Given the description of an element on the screen output the (x, y) to click on. 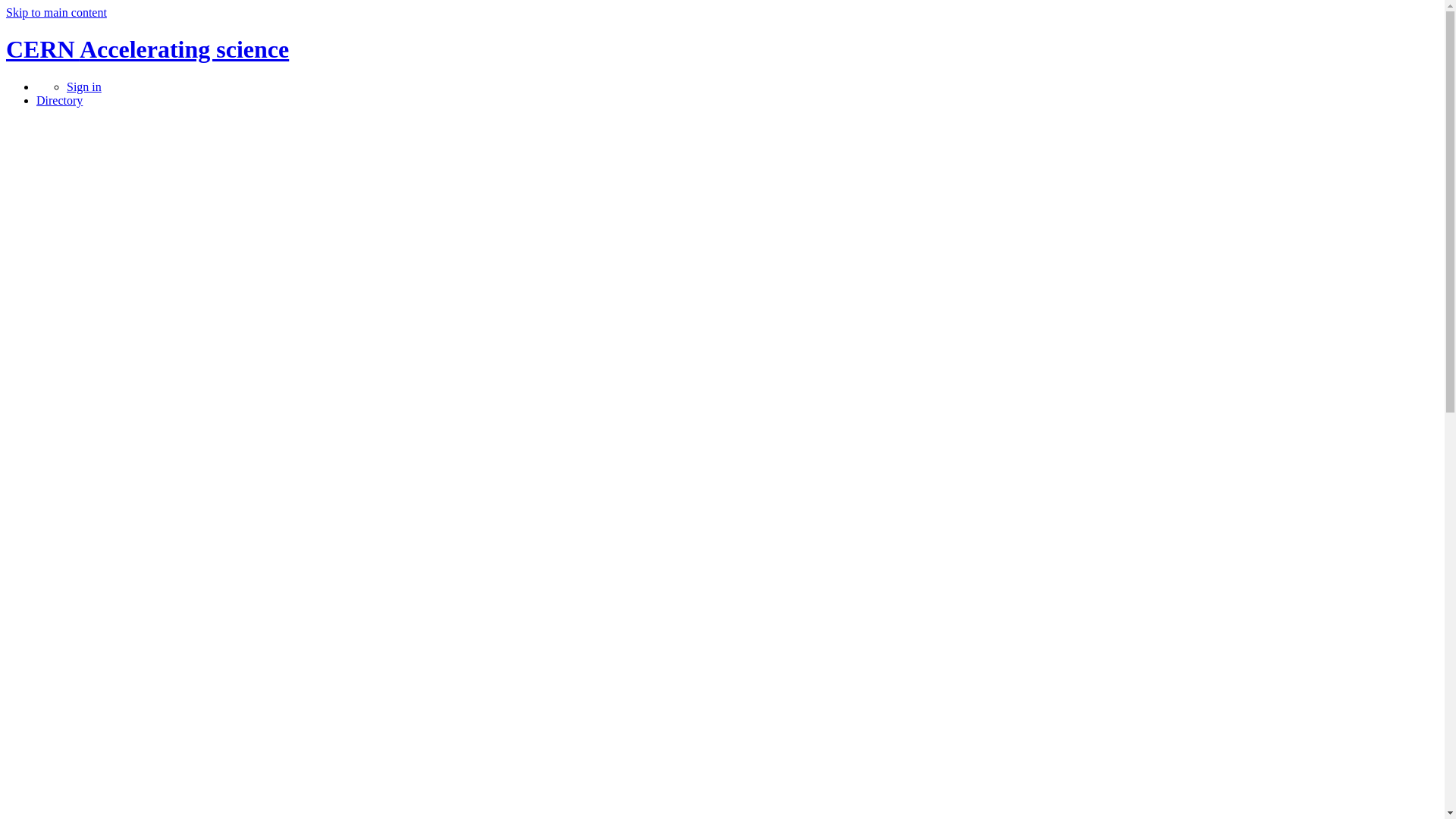
Directory Element type: text (59, 100)
Sign in Element type: text (83, 86)
CERN Accelerating science Element type: text (147, 48)
Skip to main content Element type: text (56, 12)
